Given the description of an element on the screen output the (x, y) to click on. 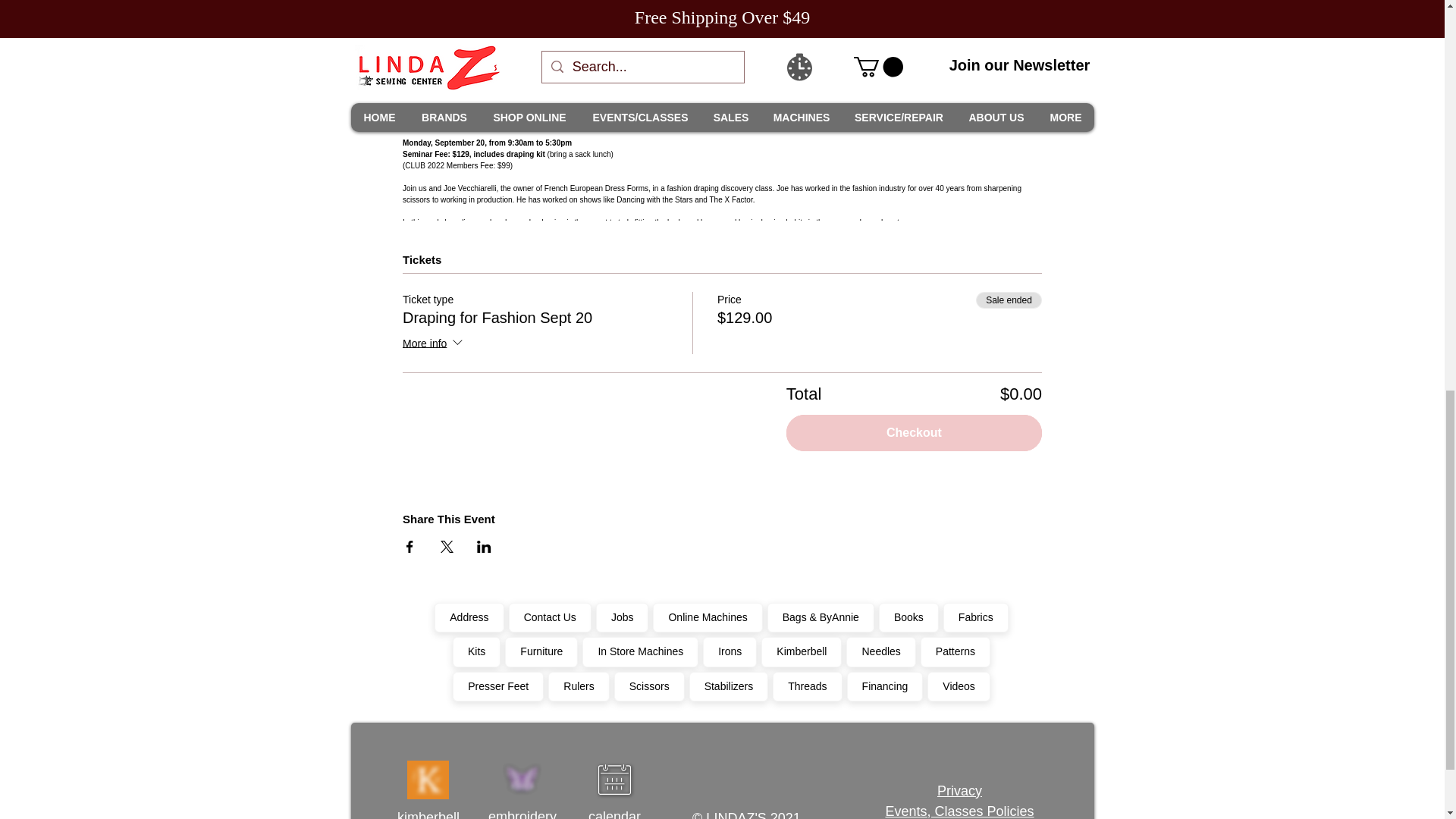
More info (434, 343)
